Given the description of an element on the screen output the (x, y) to click on. 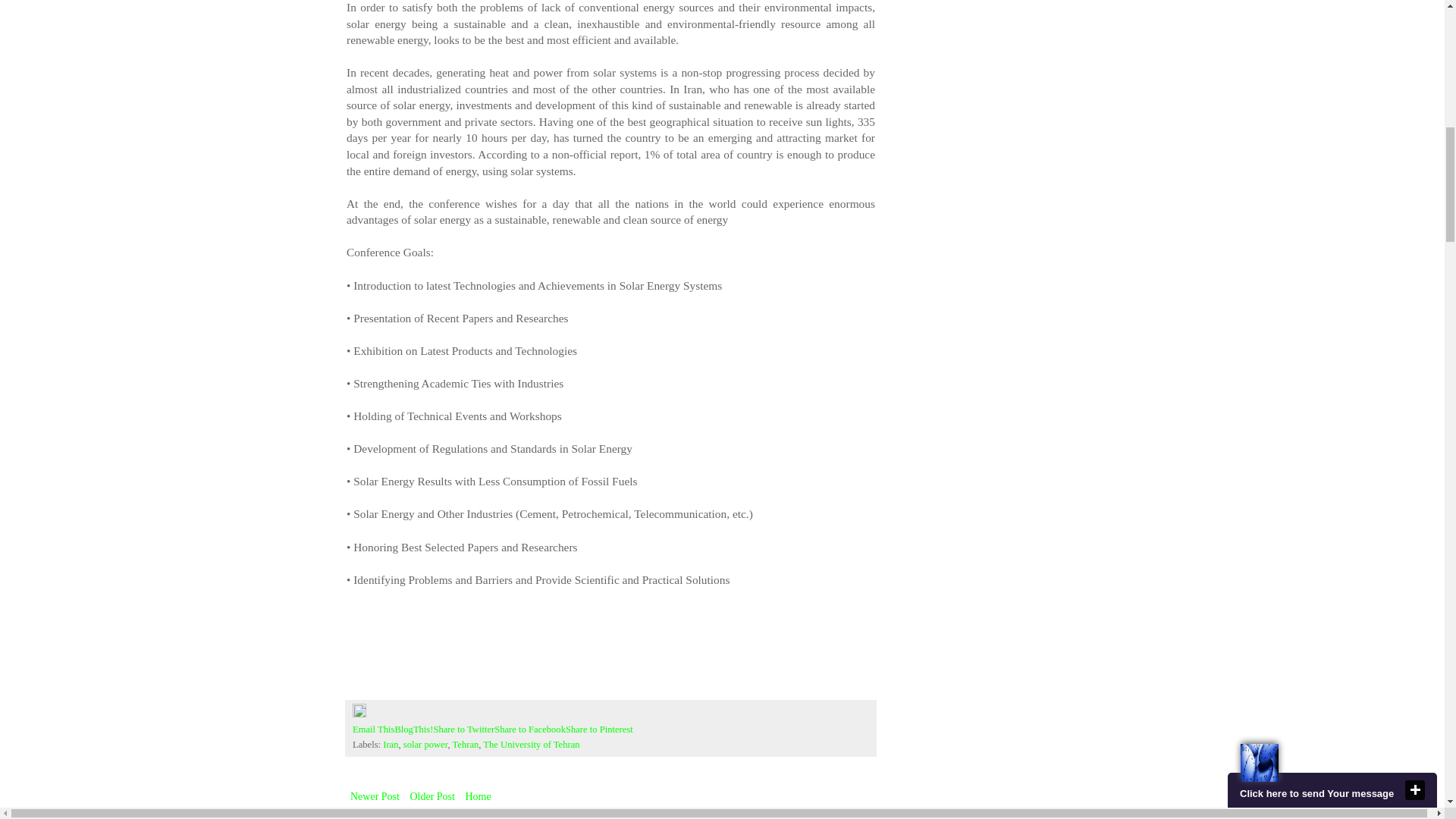
Newer Post (374, 796)
Home (478, 796)
BlogThis! (413, 728)
Edit Post (359, 714)
Tehran (465, 744)
Email This (373, 728)
Share to Twitter (463, 728)
Older Post (432, 796)
Share to Facebook (530, 728)
The University of Tehran (531, 744)
Older Post (432, 796)
Email This (373, 728)
BlogThis! (413, 728)
solar power (425, 744)
Iran (389, 744)
